Given the description of an element on the screen output the (x, y) to click on. 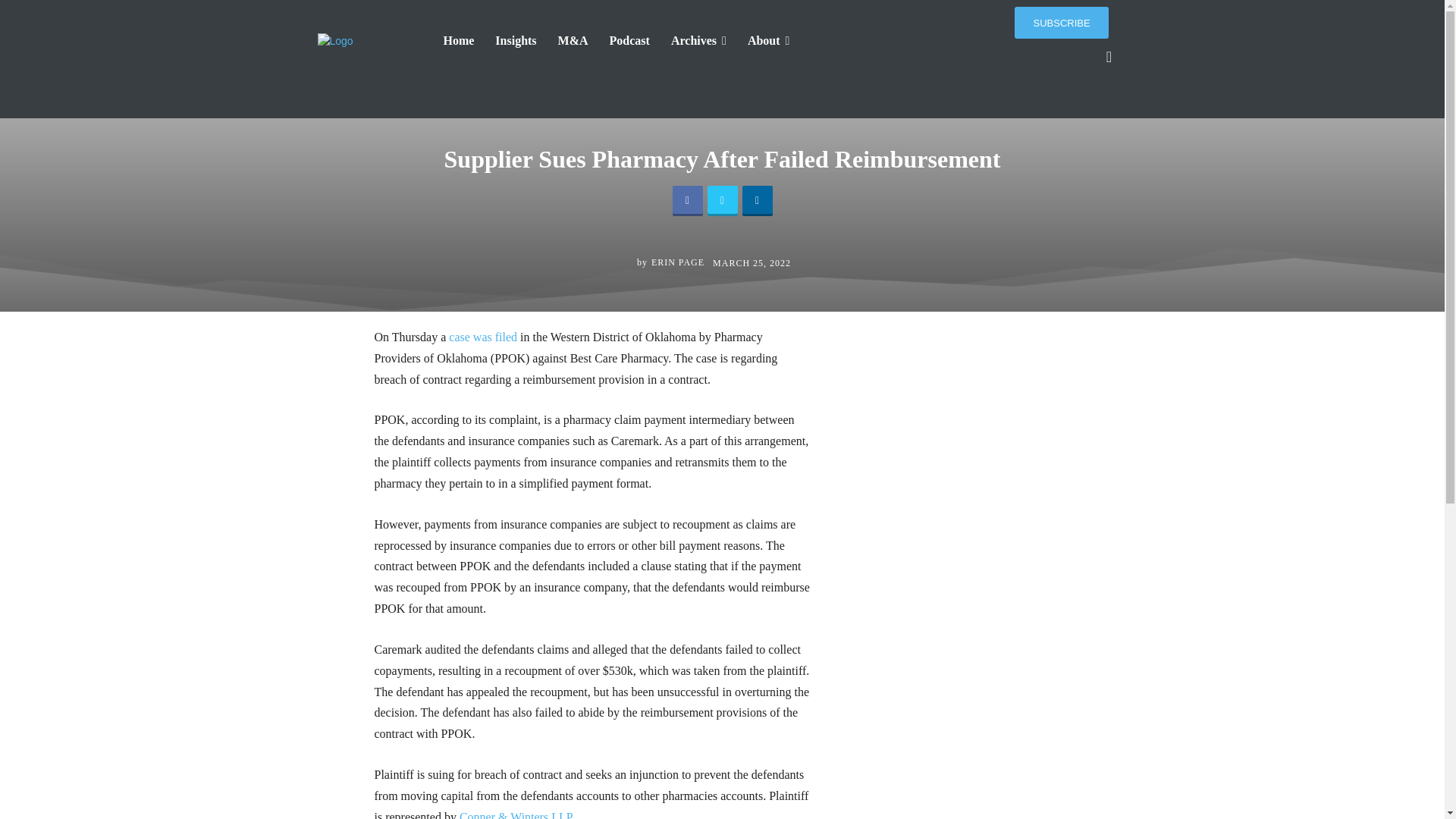
Linkedin (756, 200)
Archives (698, 40)
case was filed (480, 336)
Facebook (686, 200)
Subscribe (1061, 22)
ERIN PAGE (677, 261)
HEALTH (667, 97)
PHARMACEUTICALS (745, 97)
Twitter (721, 200)
SUBSCRIBE (1061, 22)
